Given the description of an element on the screen output the (x, y) to click on. 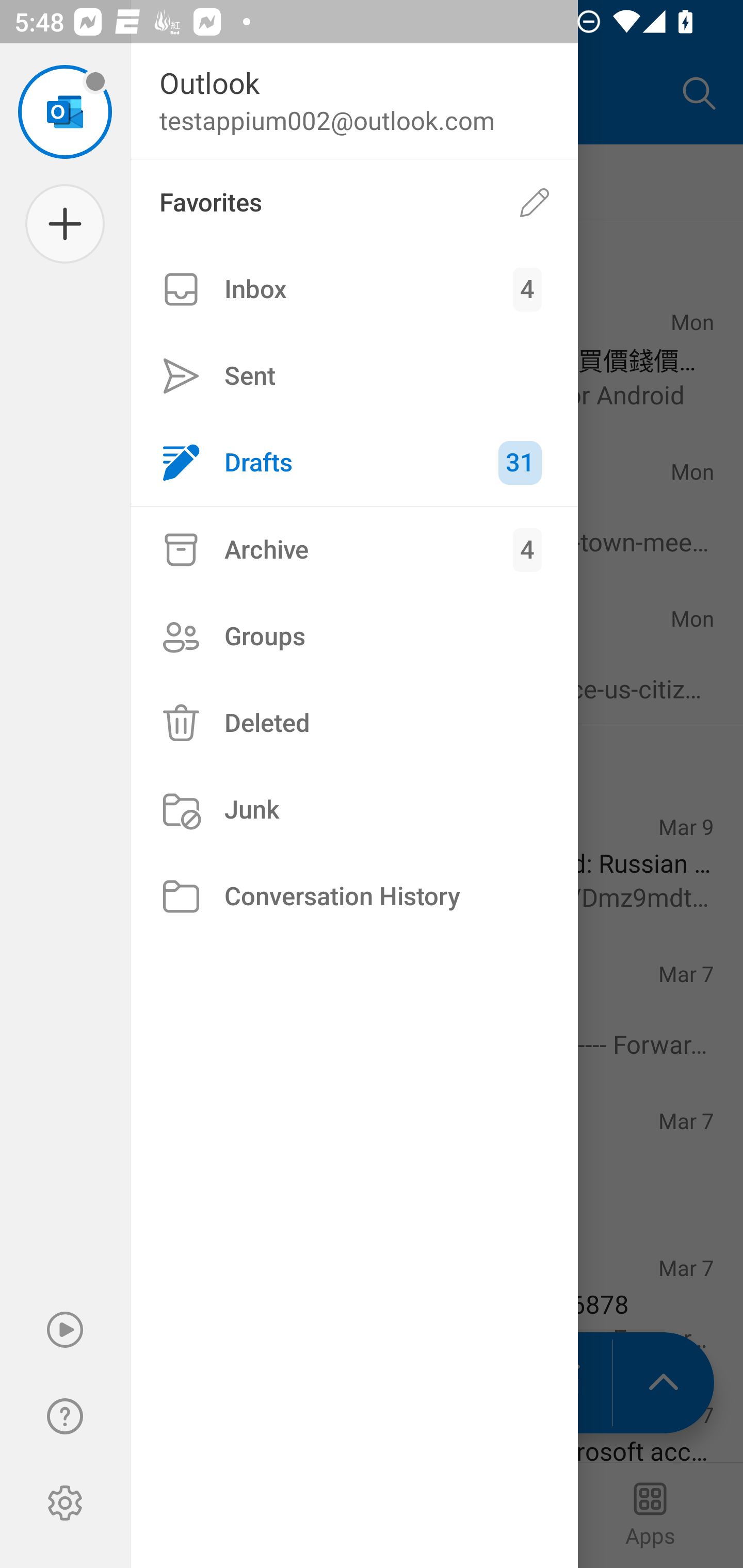
testappium002@outlook.com (64, 111)
Edit favorites (534, 202)
Add account (64, 224)
Inbox Inbox, 4 unread emails (354, 289)
Sent (354, 375)
Drafts Drafts, 31 unread emails,Selected (354, 462)
Archive Archive, 2 of 6, level 1, 4 unread emails (354, 549)
Groups Groups, 3 of 6, level 1 (354, 636)
Deleted Deleted, 4 of 6, level 1 (354, 723)
Junk Junk, 5 of 6, level 1 (354, 809)
Play My Emails (64, 1329)
Help (64, 1416)
Settings (64, 1502)
